Given the description of an element on the screen output the (x, y) to click on. 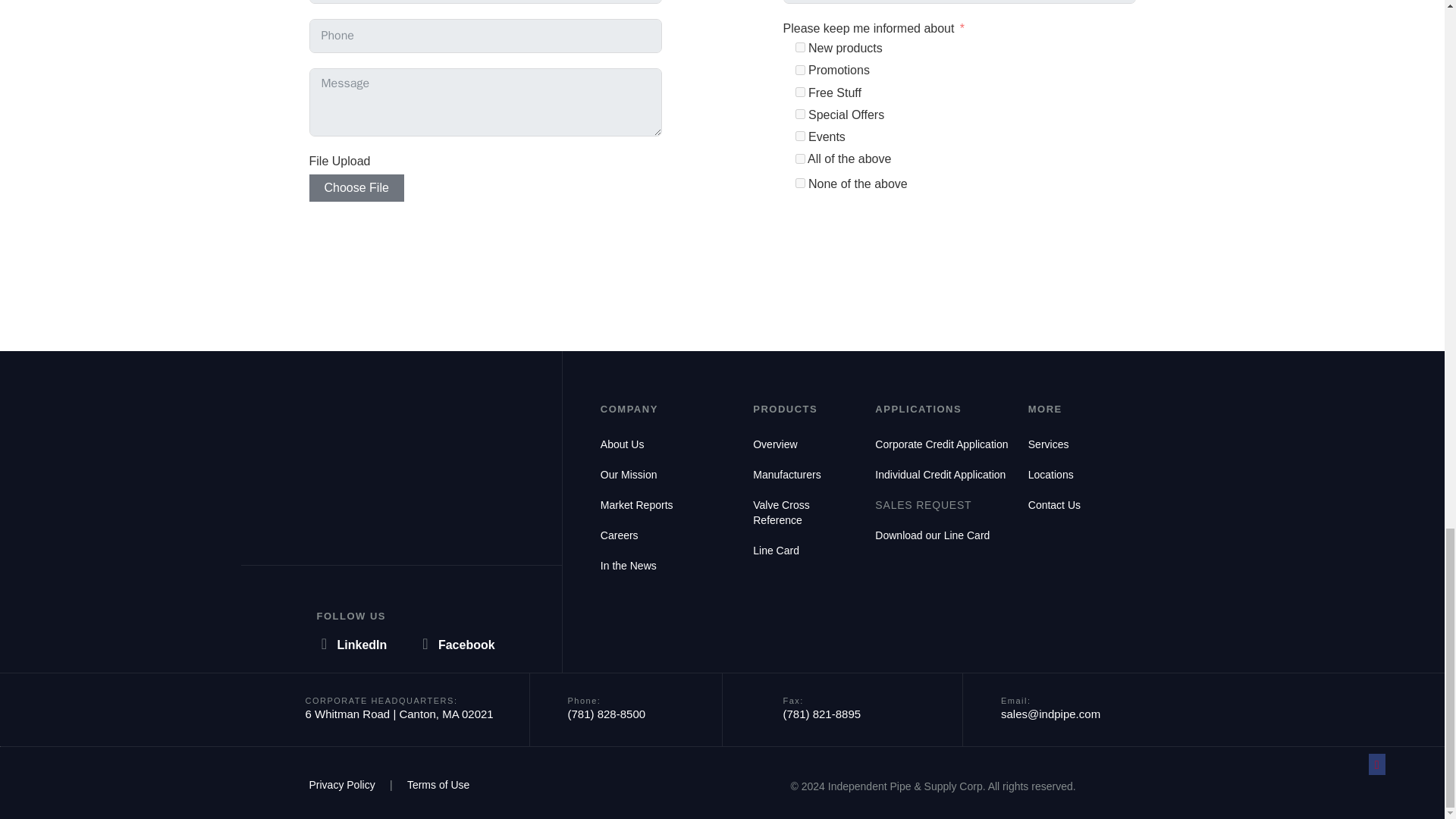
Events (799, 135)
New products (799, 47)
All of the above (799, 158)
Free Stuff (799, 91)
None of the above (799, 183)
Promotions (799, 70)
Special Offers (799, 113)
